Given the description of an element on the screen output the (x, y) to click on. 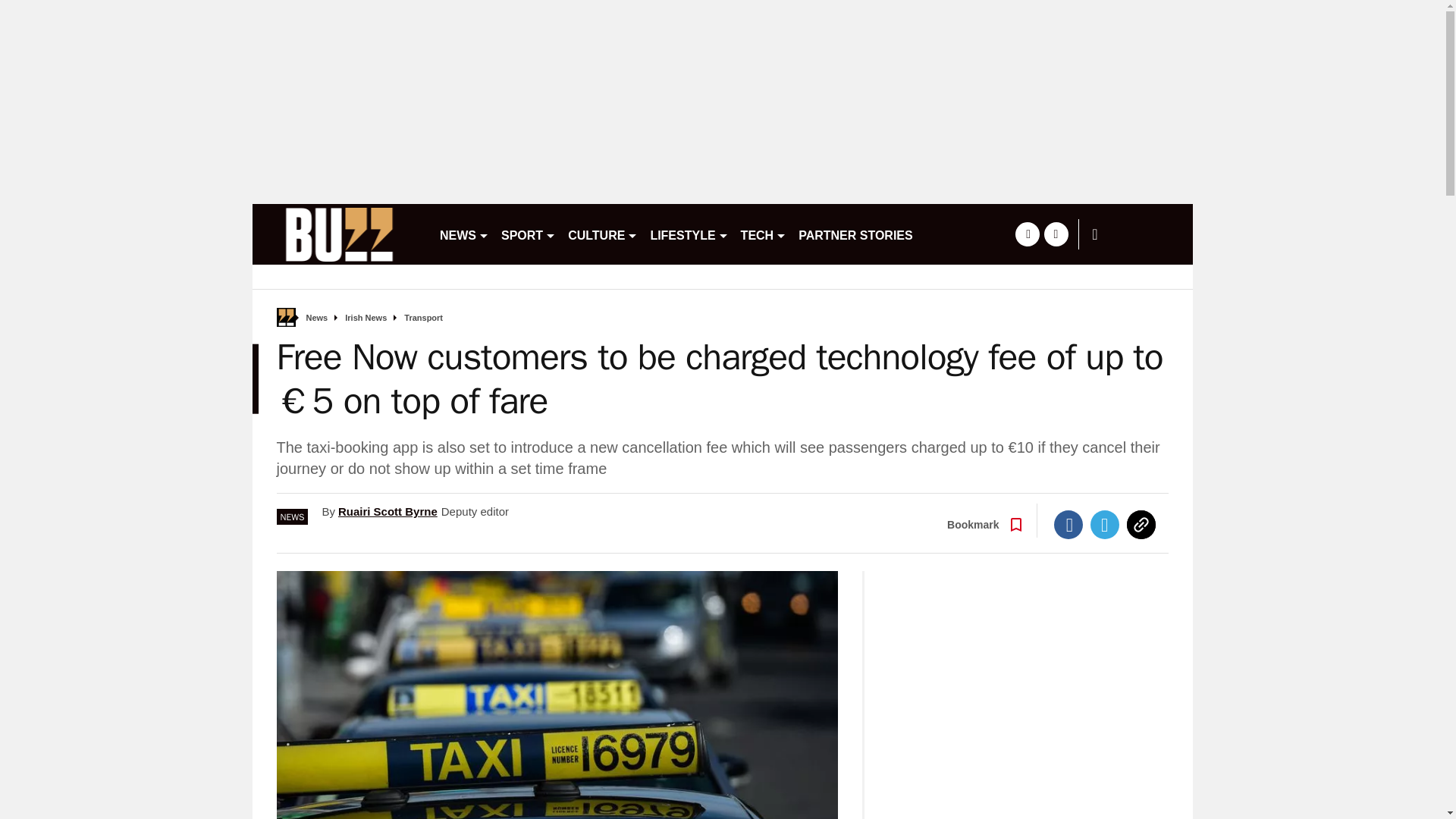
LIFESTYLE (688, 233)
NEWS (464, 233)
Twitter (1104, 524)
PARTNER STORIES (855, 233)
Facebook (1068, 524)
twitter (1055, 233)
SPORT (528, 233)
facebook (1026, 233)
buzz (338, 233)
CULTURE (602, 233)
